Given the description of an element on the screen output the (x, y) to click on. 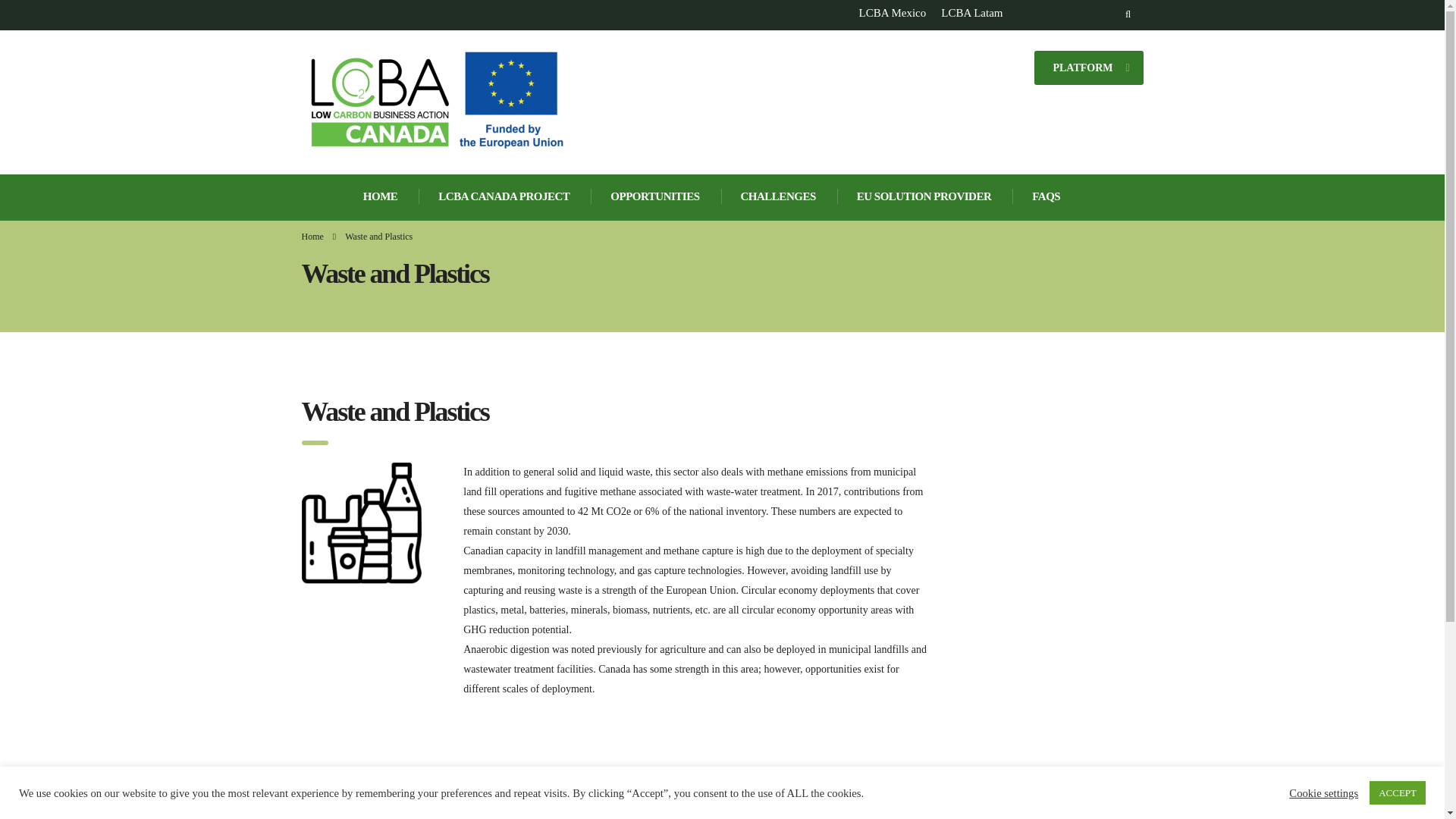
PLATFORM (1087, 67)
EU SOLUTION PROVIDER (925, 197)
LCBA Latam (971, 12)
ACCEPT (1397, 792)
CHALLENGES (778, 197)
Go to LCBA Canada. (312, 235)
Home (312, 235)
LCBA Mexico (892, 12)
OPPORTUNITIES (655, 197)
PLATFORM (1087, 66)
Cookie settings (1323, 792)
Icon Waste (361, 522)
LCBA CANADA PROJECT (505, 197)
FAQS (1046, 197)
HOME (381, 197)
